Given the description of an element on the screen output the (x, y) to click on. 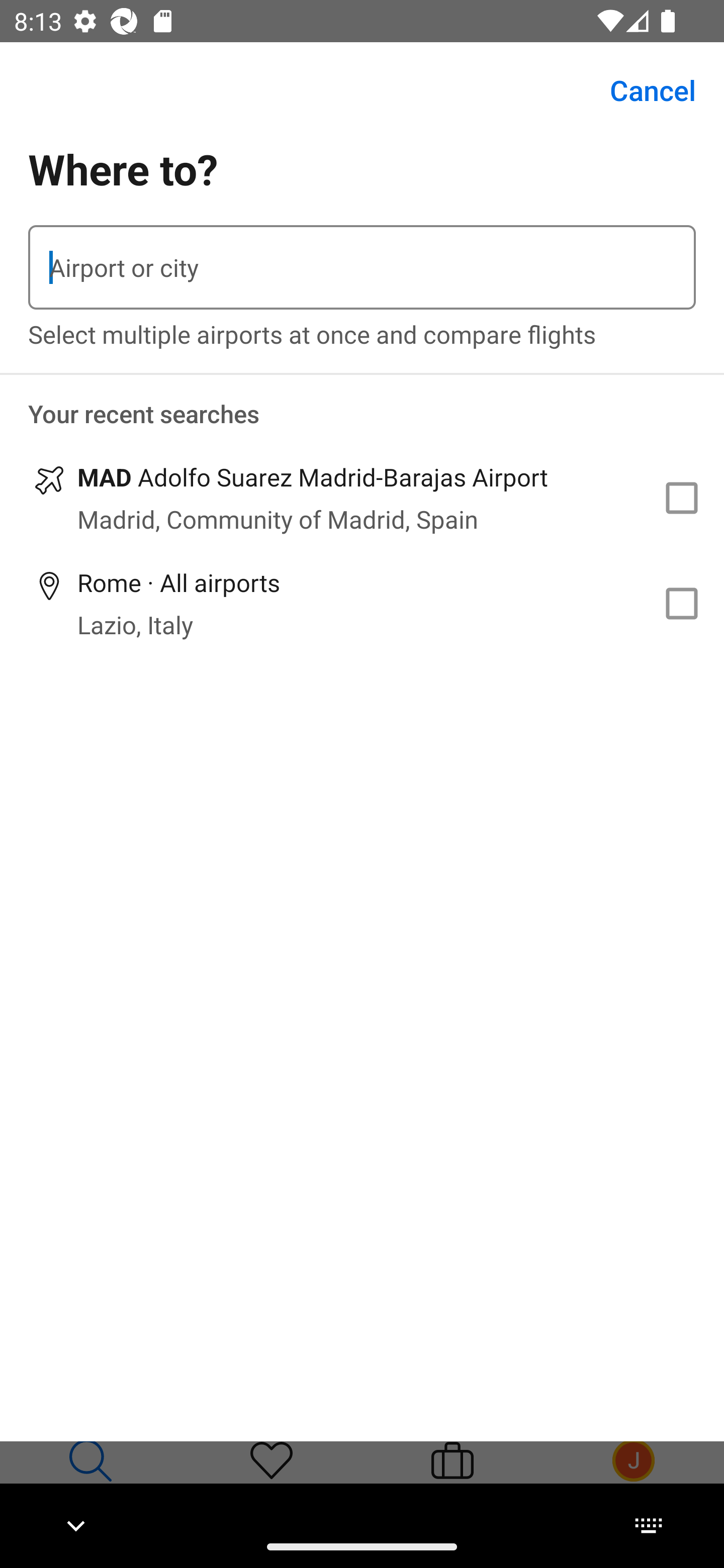
Cancel (641, 90)
Airport or city (361, 266)
Rome · All airports Lazio, Italy (362, 603)
